Given the description of an element on the screen output the (x, y) to click on. 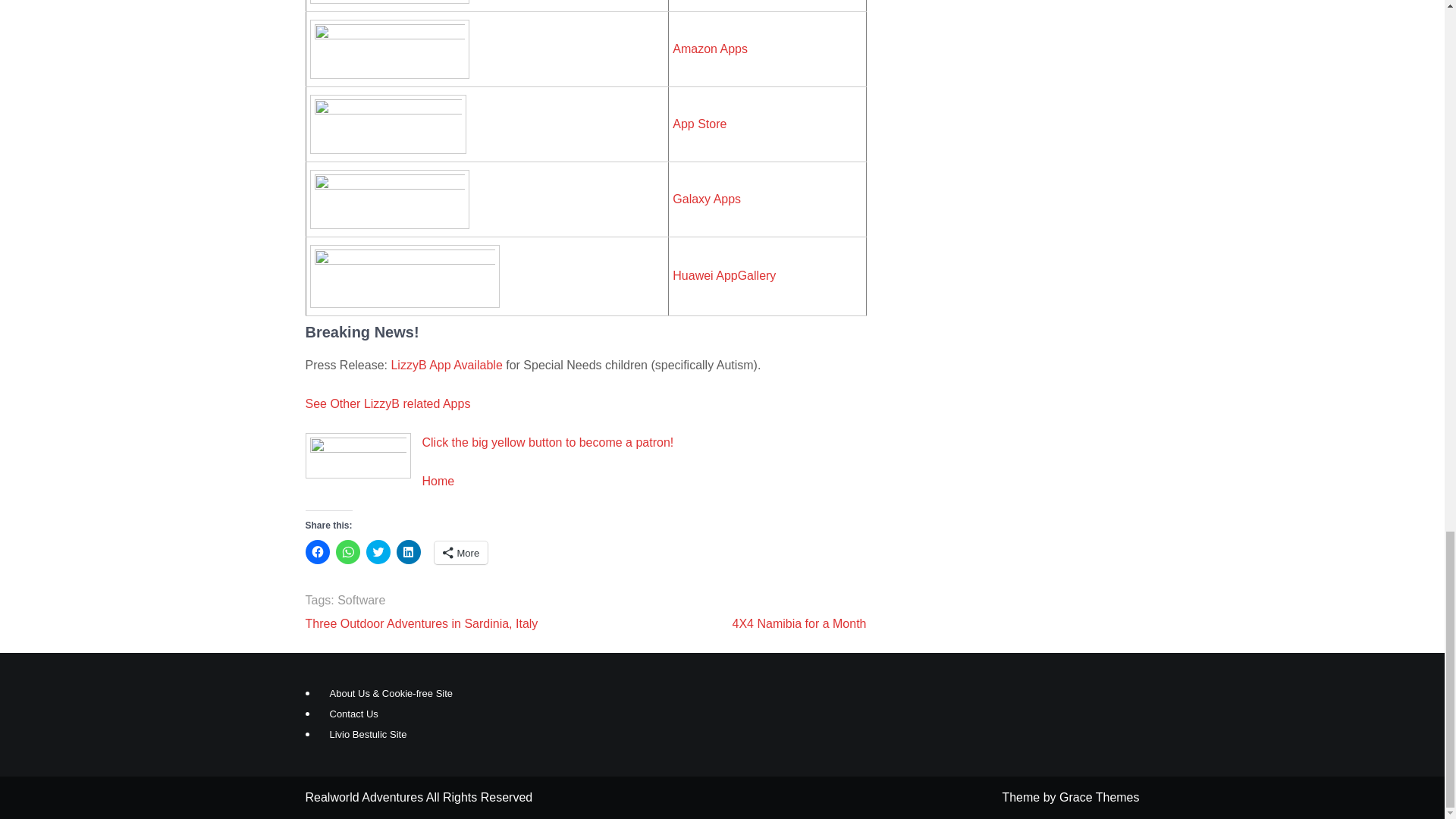
Click to share on LinkedIn (408, 551)
Click to share on Facebook (316, 551)
Click to share on Twitter (377, 551)
Click to share on WhatsApp (346, 551)
